Given the description of an element on the screen output the (x, y) to click on. 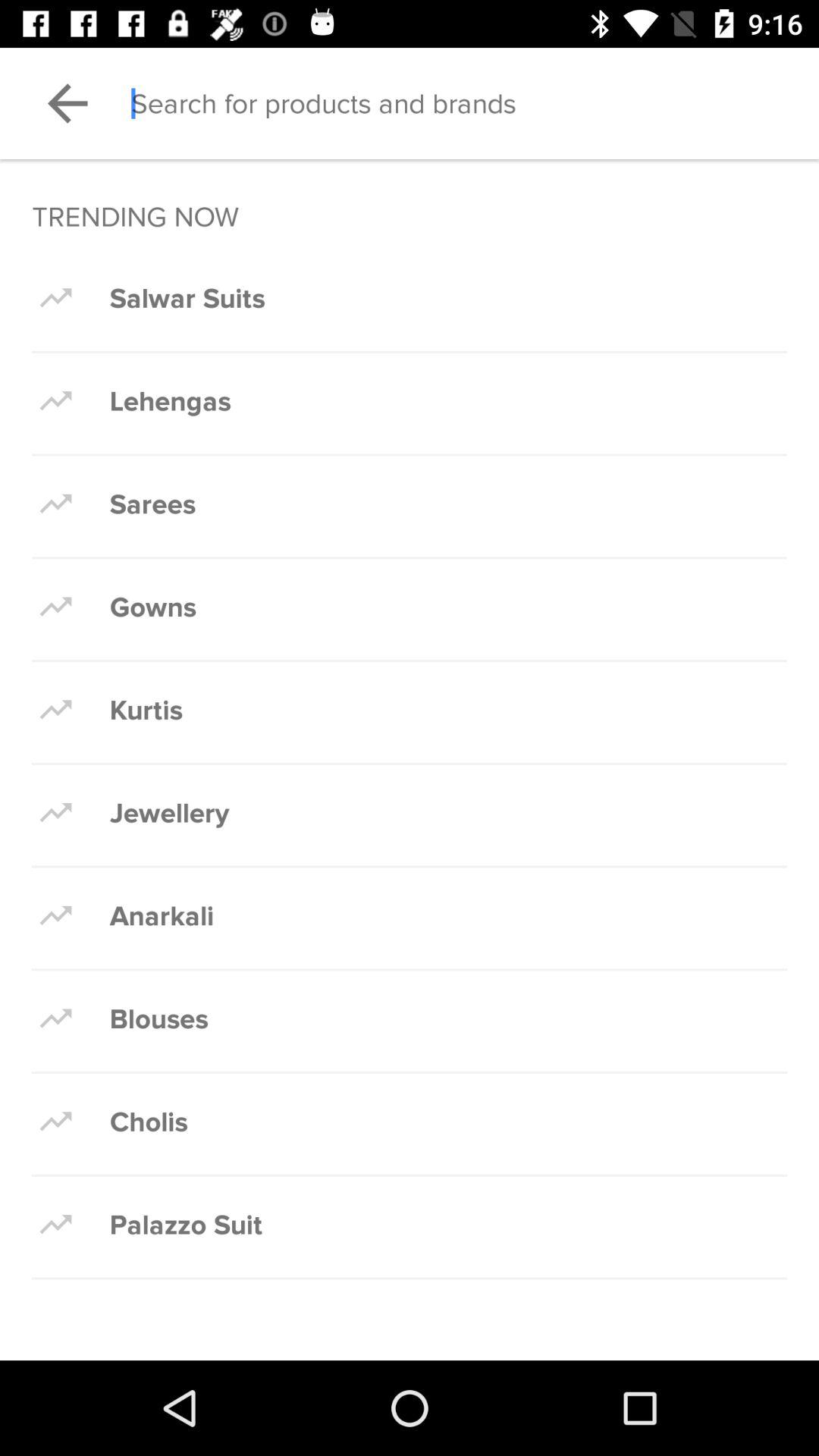
searching for a product (475, 103)
